Given the description of an element on the screen output the (x, y) to click on. 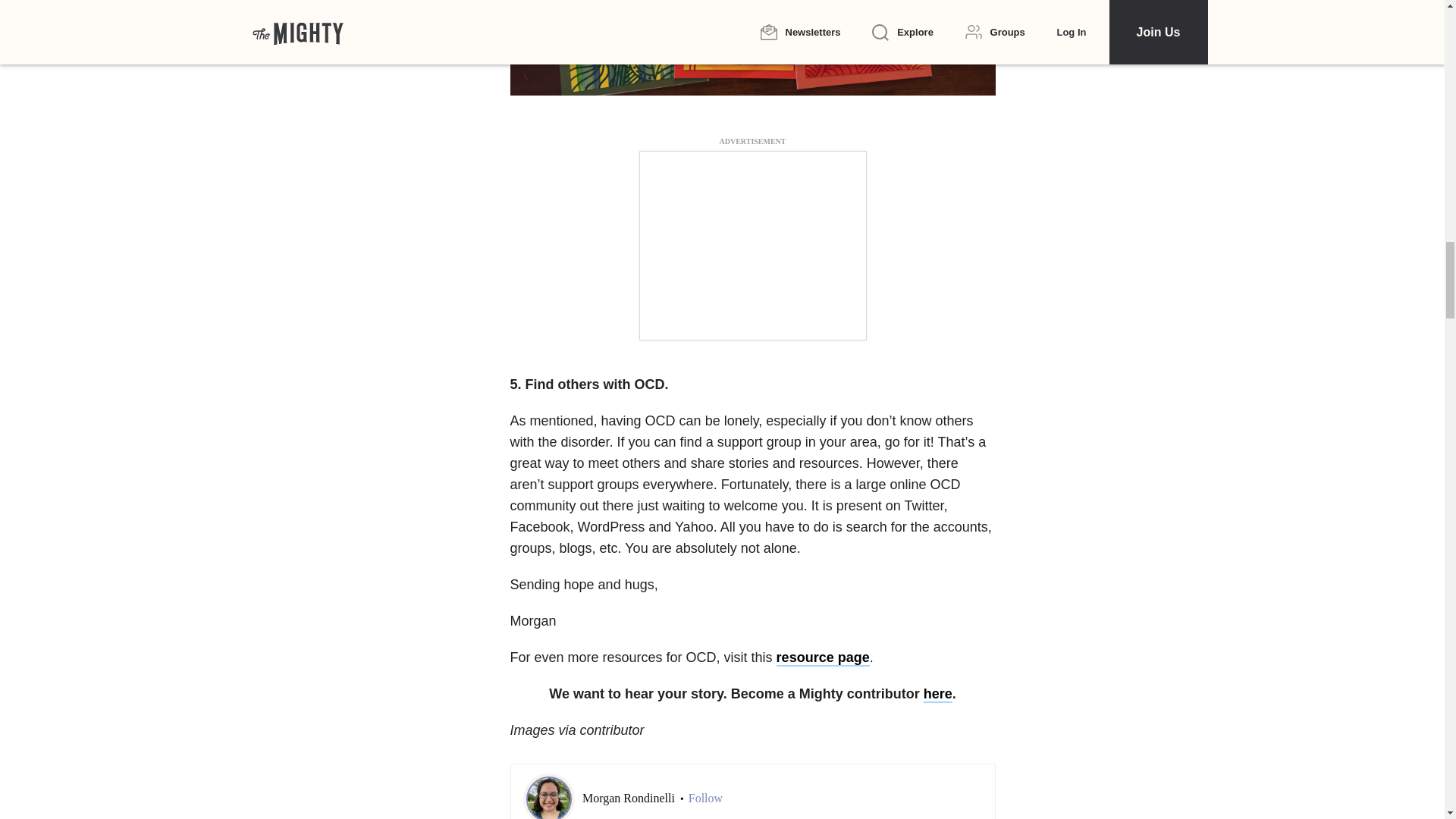
here (937, 694)
resource page (822, 658)
Morgan Rondinelli (630, 797)
